Given the description of an element on the screen output the (x, y) to click on. 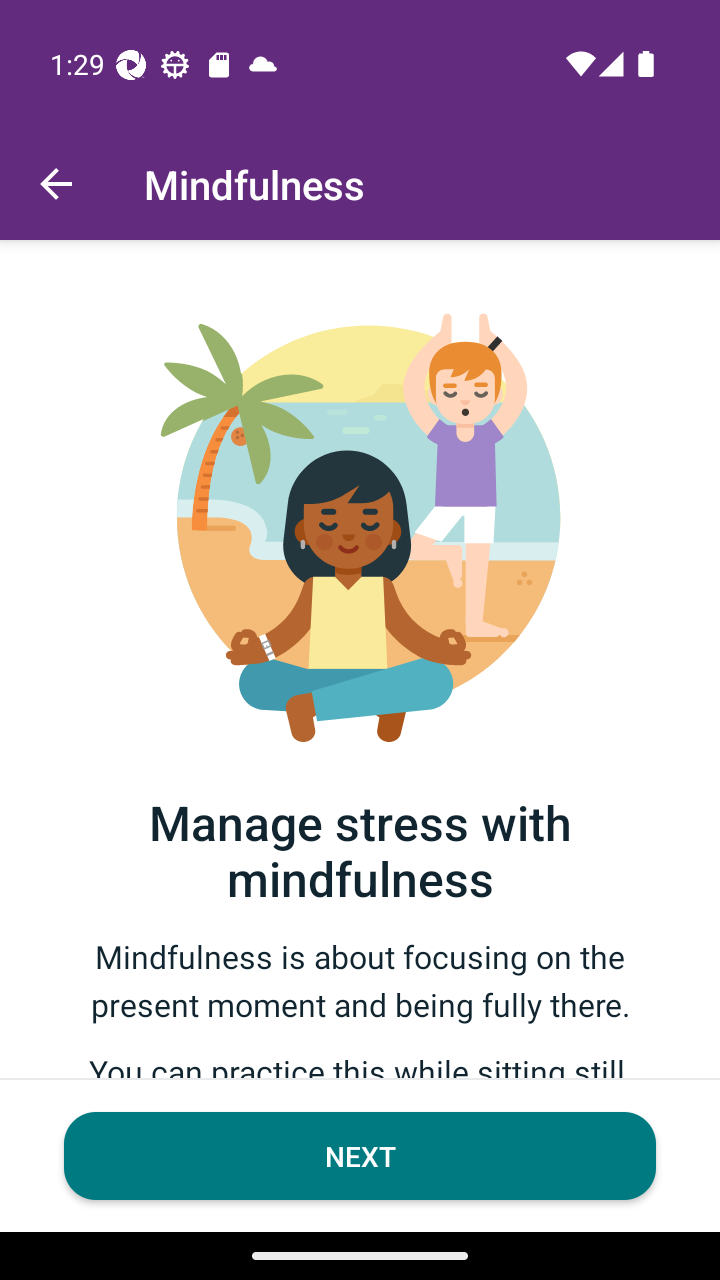
Navigate up (56, 184)
NEXT (359, 1156)
